Given the description of an element on the screen output the (x, y) to click on. 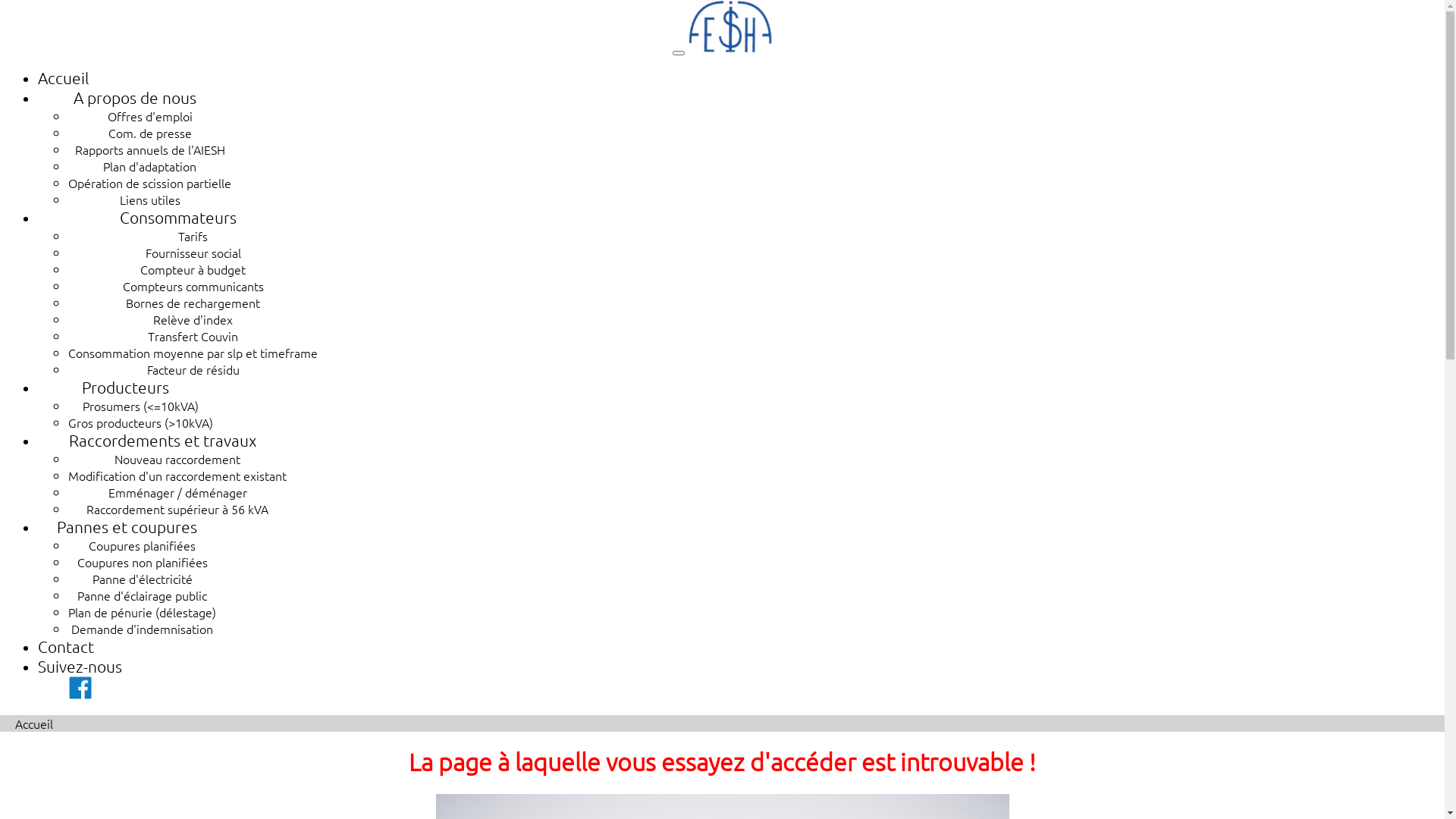
Plan d'adaptation Element type: text (149, 165)
Accueil Element type: text (62, 77)
Accueil Element type: text (34, 723)
Bornes de rechargement Element type: text (192, 302)
Prosumers (<=10kVA) Element type: text (140, 405)
Transfert Couvin Element type: text (192, 335)
Pannes et coupures Element type: text (126, 526)
Gros producteurs (>10kVA) Element type: text (140, 422)
Tarifs Element type: text (192, 235)
Com. de presse Element type: text (149, 132)
Raccordements et travaux Element type: text (161, 439)
Offres d'emploi Element type: text (149, 115)
Modification d'un raccordement existant Element type: text (177, 475)
Suivez-nous Element type: text (79, 679)
Producteurs Element type: text (125, 386)
Liens utiles Element type: text (149, 199)
Compteurs communicants Element type: text (192, 285)
Consommation moyenne par slp et timeframe Element type: text (192, 352)
Rapports annuels de l'AIESH Element type: text (149, 149)
Nouveau raccordement Element type: text (177, 458)
Contact Element type: text (65, 646)
Demande d'indemnisation Element type: text (142, 628)
A propos de nous Element type: text (133, 96)
Consommateurs Element type: text (177, 216)
Fournisseur social Element type: text (193, 252)
